Given the description of an element on the screen output the (x, y) to click on. 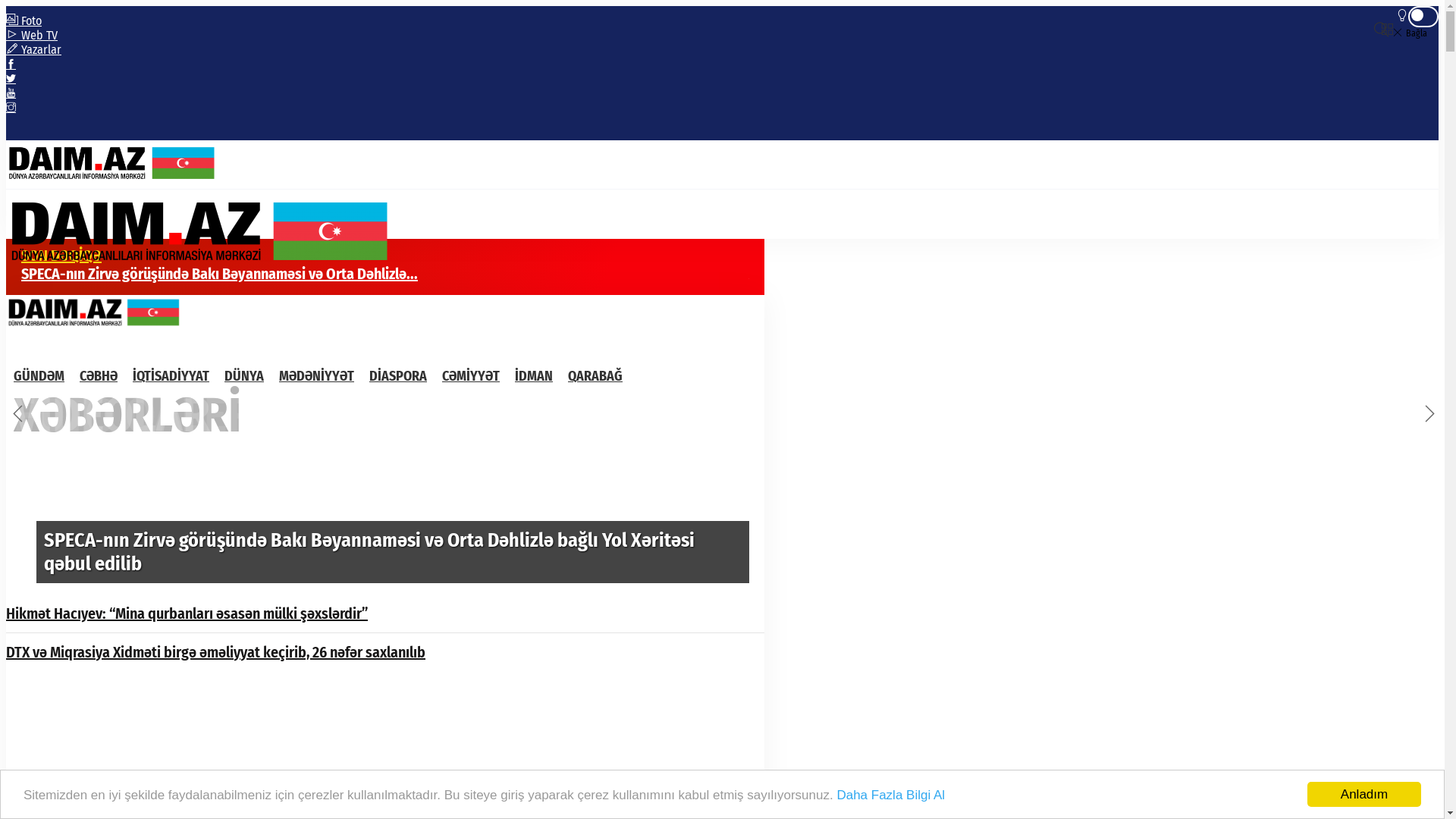
DAIM | AZ Element type: hover (106, 312)
DAIM | AZ Element type: hover (106, 327)
Gece Modu Element type: hover (1423, 16)
DAIM | AZ Element type: hover (126, 181)
DAIM | AZ Element type: hover (227, 231)
Foto Element type: text (23, 20)
DAIM | AZ Element type: hover (126, 162)
DAIM | AZ Element type: hover (227, 268)
Yazarlar Element type: text (33, 49)
Web TV Element type: text (31, 35)
